Given the description of an element on the screen output the (x, y) to click on. 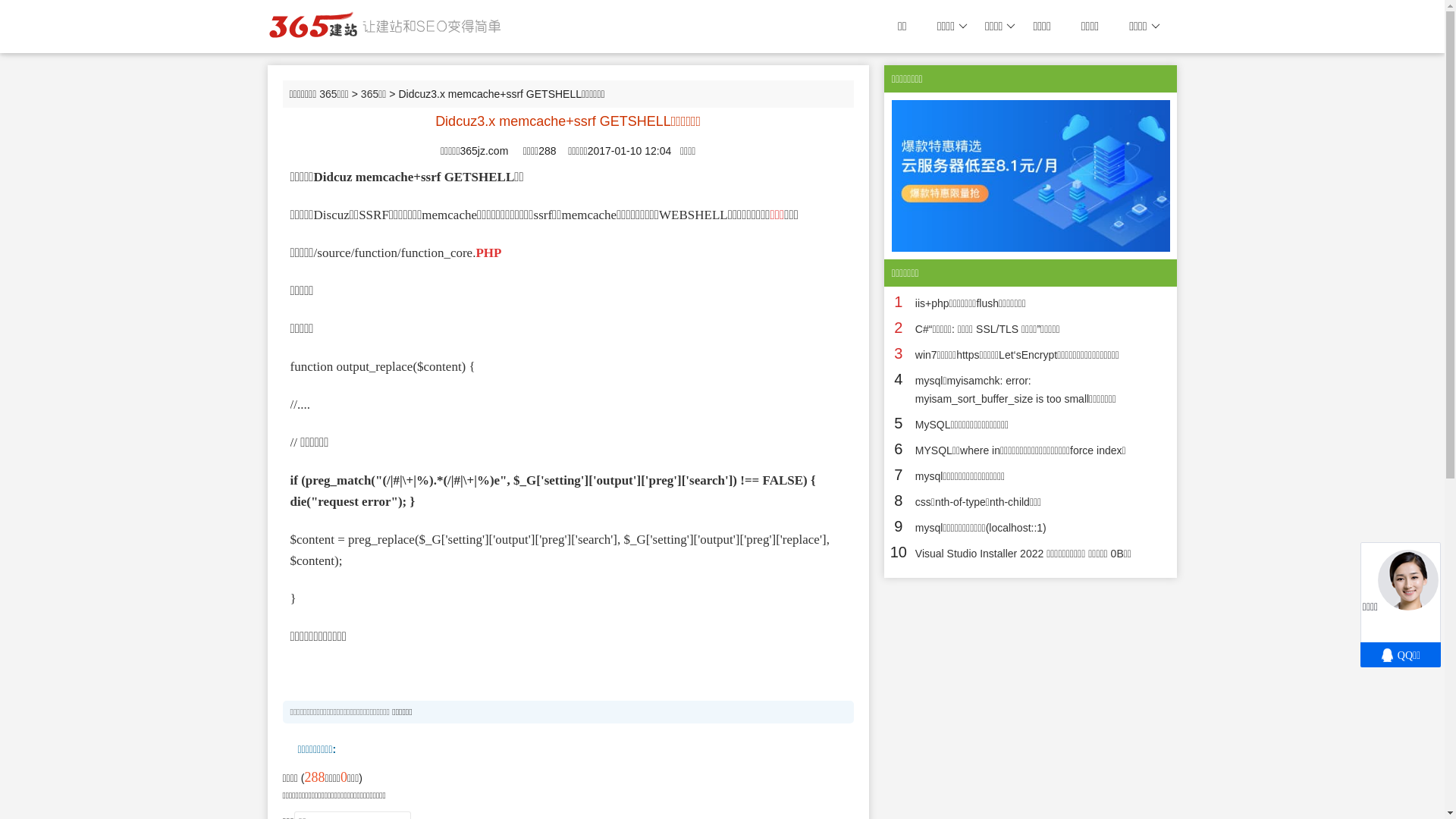
PHP Element type: text (488, 252)
